Given the description of an element on the screen output the (x, y) to click on. 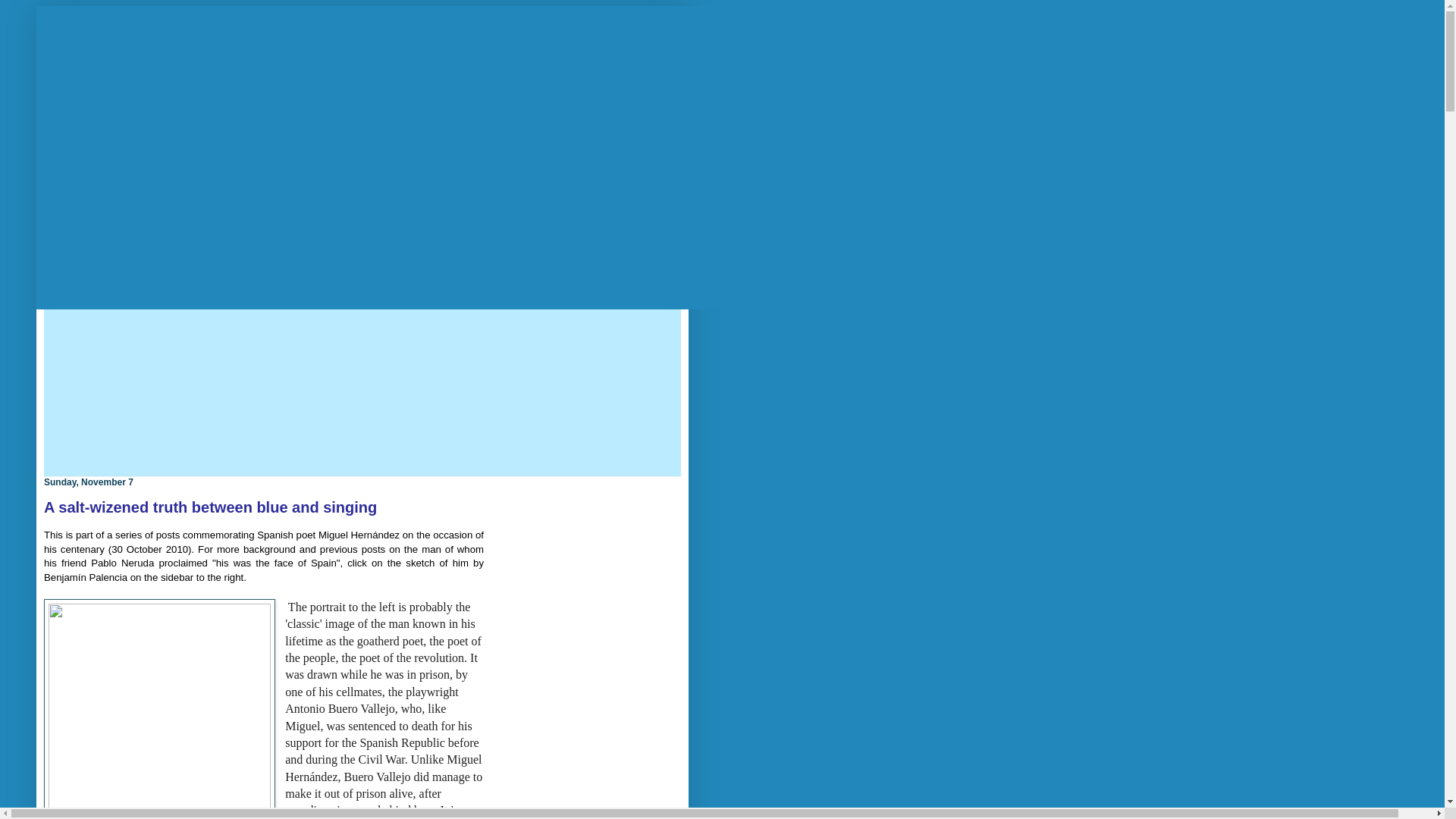
The Alchemist's Pillow (202, 96)
A salt-wizened truth between blue and singing (210, 506)
